Given the description of an element on the screen output the (x, y) to click on. 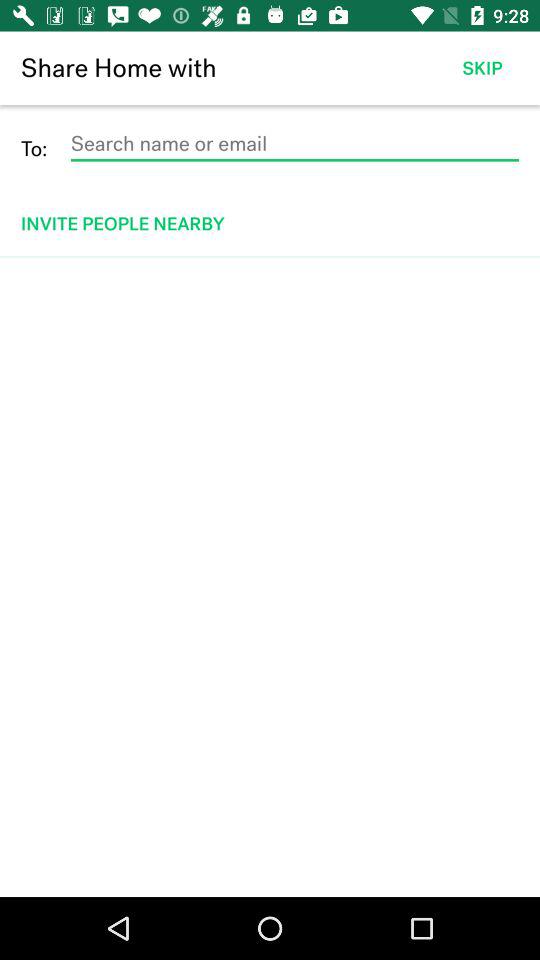
scroll until the skip icon (482, 68)
